Given the description of an element on the screen output the (x, y) to click on. 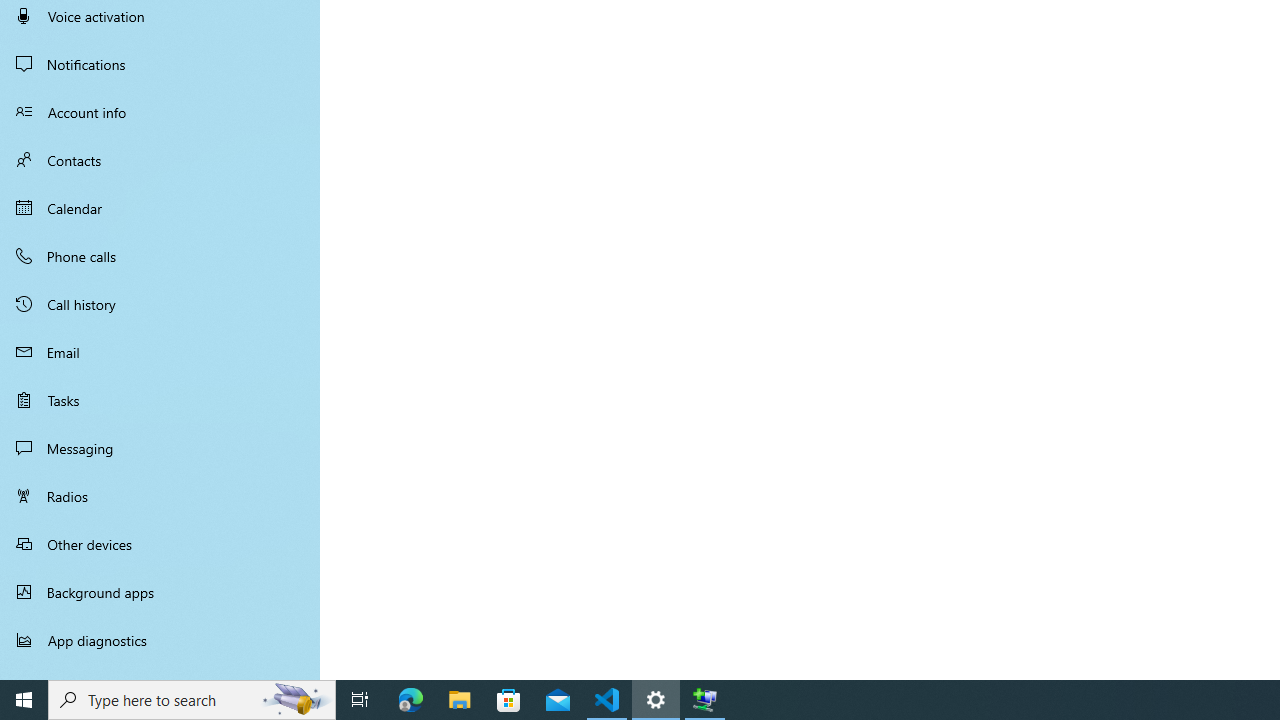
Automatic file downloads (160, 671)
App diagnostics (160, 639)
Call history (160, 304)
Calendar (160, 207)
Other devices (160, 543)
Email (160, 351)
Messaging (160, 448)
Account info (160, 111)
Phone calls (160, 255)
